Given the description of an element on the screen output the (x, y) to click on. 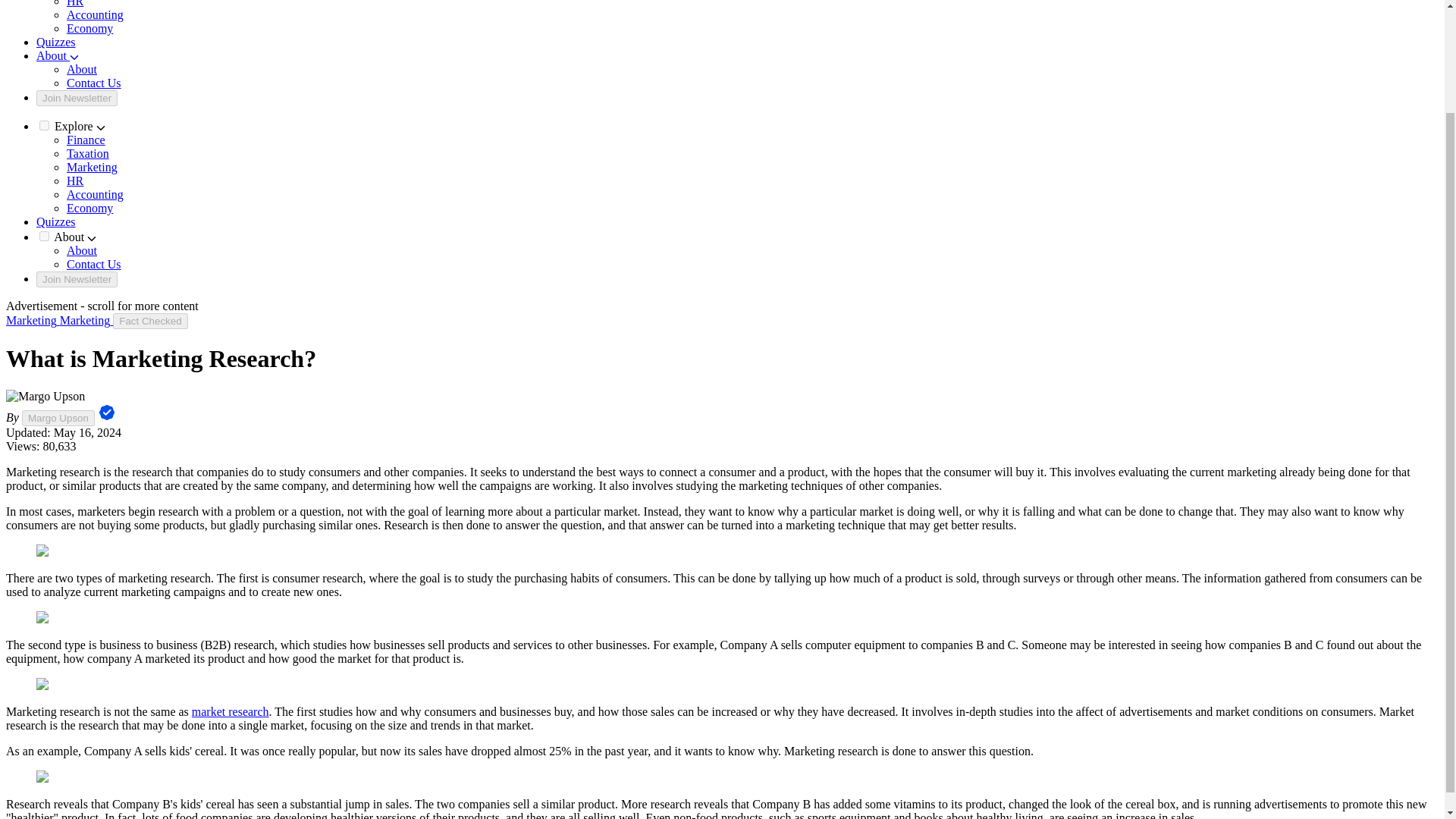
Contact Us (93, 264)
Accounting (94, 14)
Join Newsletter (76, 98)
About (81, 250)
Economy (89, 28)
HR (74, 3)
Quizzes (55, 42)
on (44, 235)
About (57, 55)
Finance (85, 139)
HR (74, 180)
Marketing (91, 166)
market research (230, 711)
Quizzes (55, 221)
Fact Checked (150, 320)
